Given the description of an element on the screen output the (x, y) to click on. 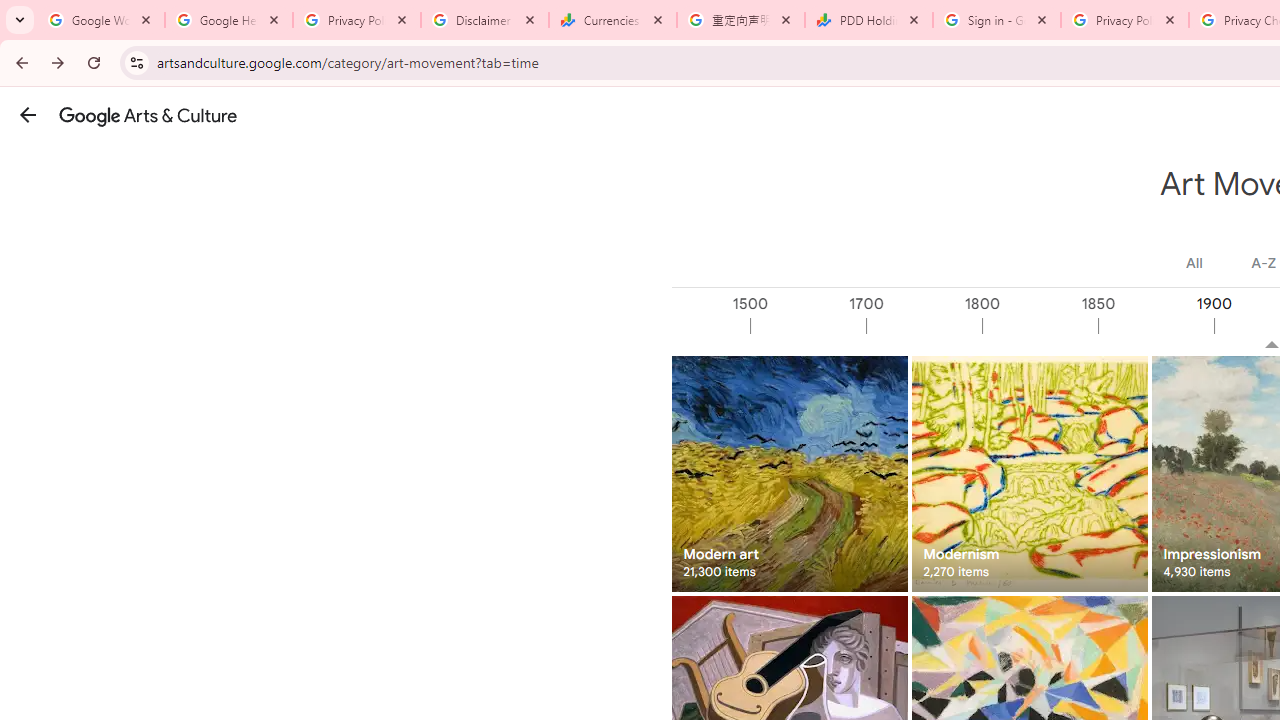
All (1194, 263)
Sign in - Google Accounts (997, 20)
Modern art 21,300 items (788, 473)
Google Workspace Admin Community (101, 20)
Modernism 2,270 items (1029, 473)
1850 (1154, 326)
